Given the description of an element on the screen output the (x, y) to click on. 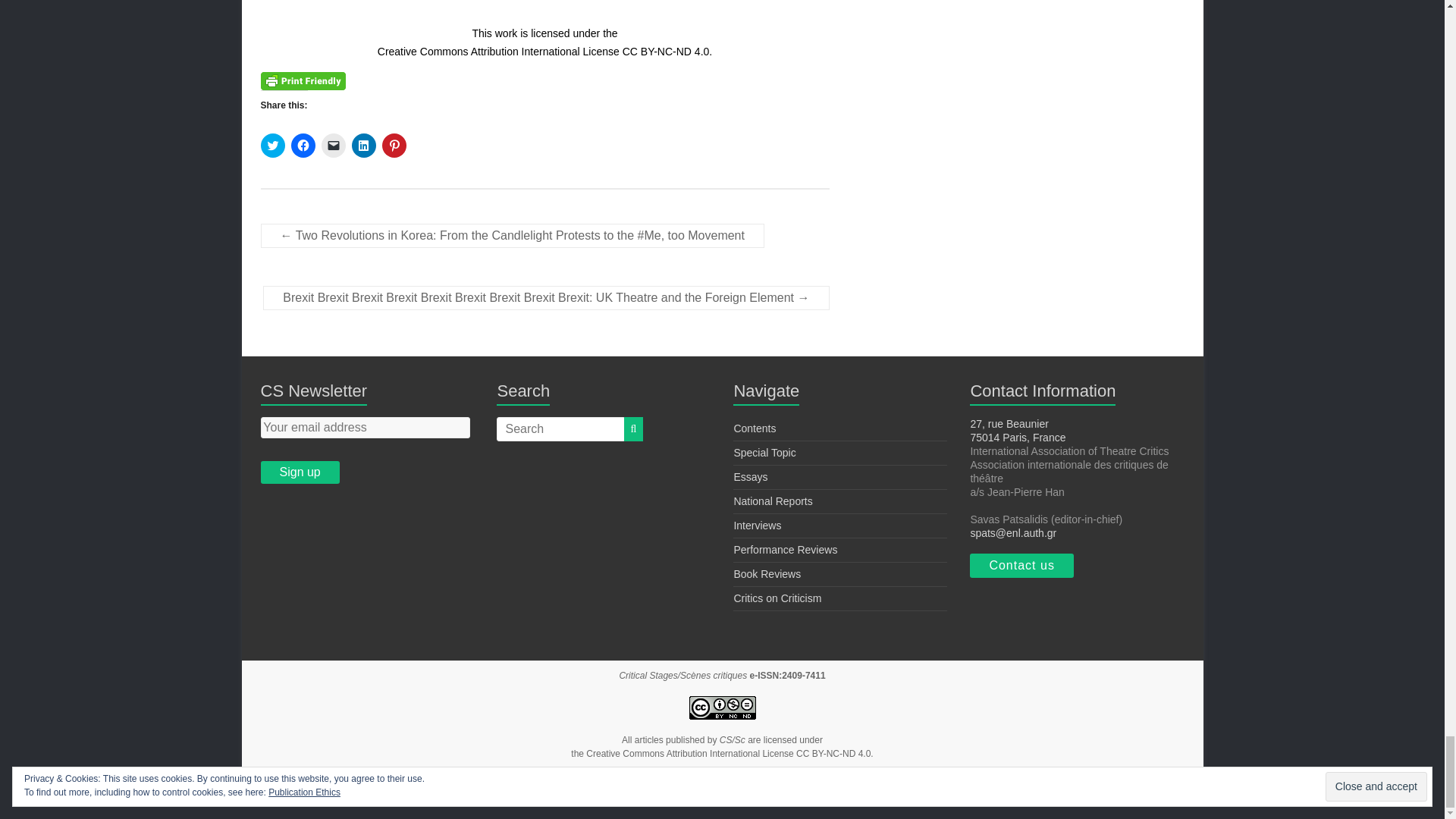
Click to email a link to a friend (333, 145)
Click to share on Facebook (303, 145)
Click to share on Twitter (272, 145)
Sign up (299, 472)
Click to share on LinkedIn (363, 145)
Click to share on Pinterest (393, 145)
